Given the description of an element on the screen output the (x, y) to click on. 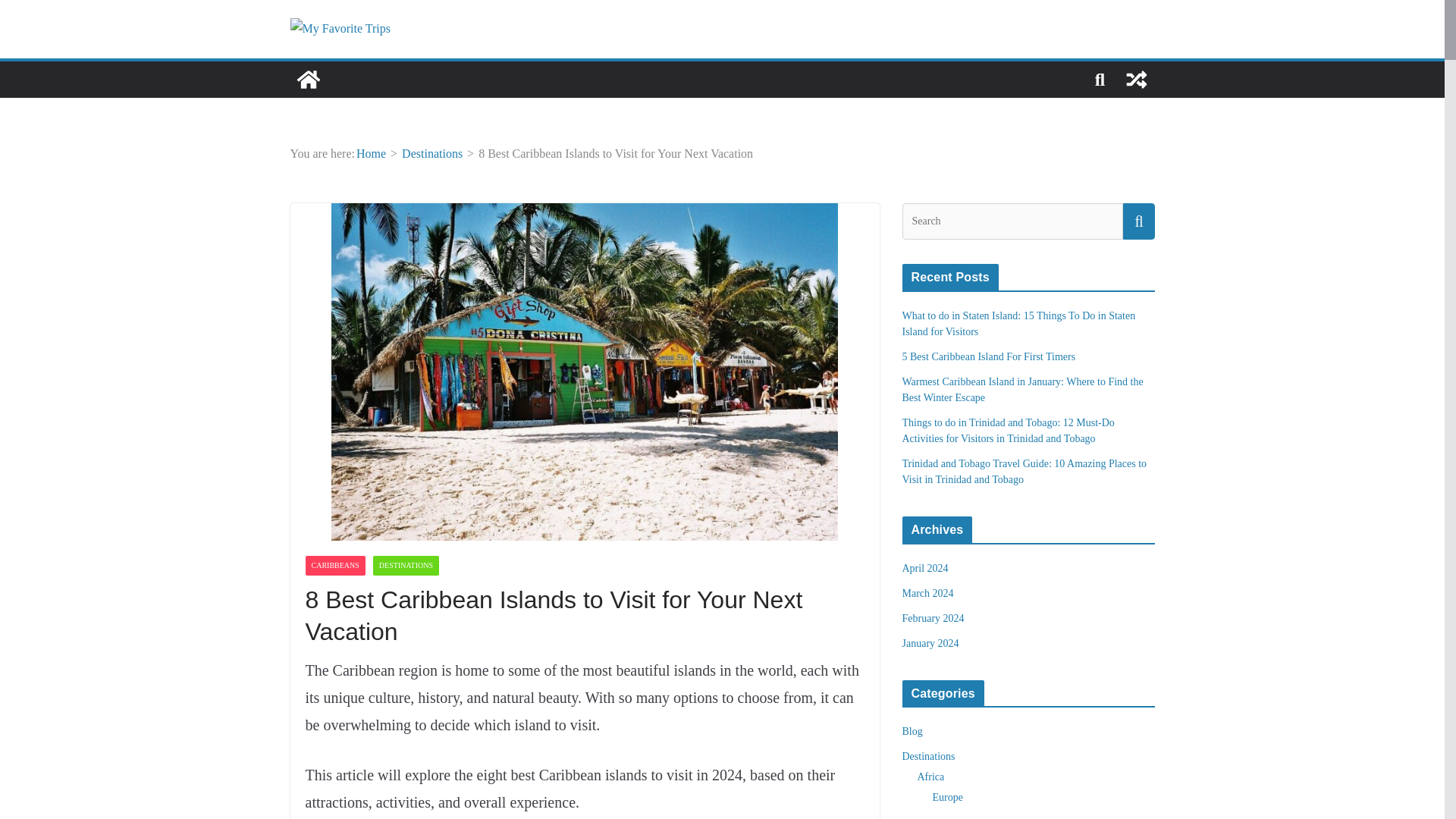
5 Best Caribbean Island For First Timers (988, 356)
Destinations (432, 153)
View a random post (1136, 79)
My Favorite Trips (307, 79)
Home (370, 153)
CARIBBEANS (334, 565)
DESTINATIONS (405, 565)
